Given the description of an element on the screen output the (x, y) to click on. 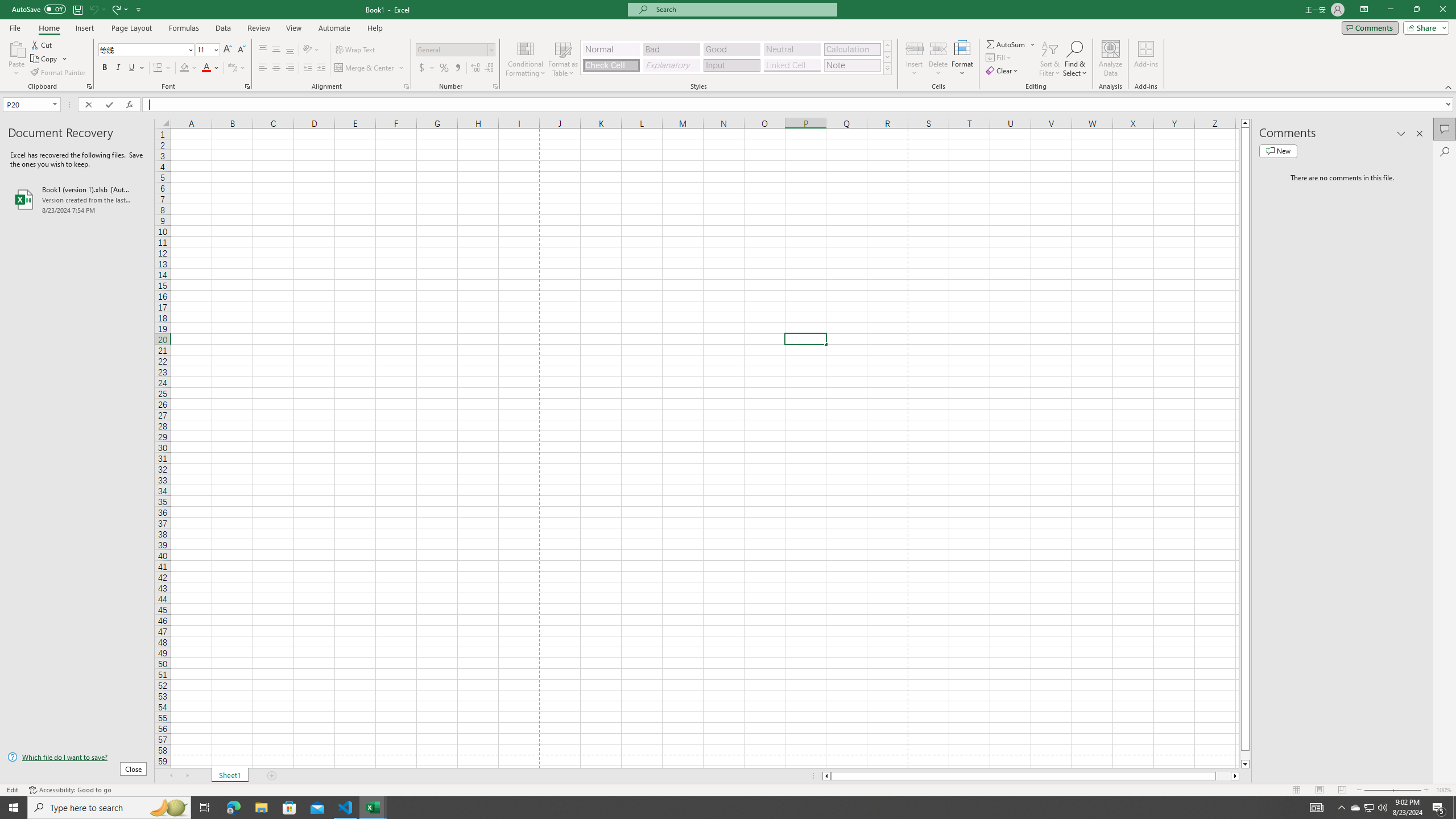
Font Size (207, 49)
Underline (131, 67)
Formula Bar (799, 104)
Copy (45, 58)
Increase Indent (320, 67)
Bottom Align (290, 49)
Format Cell Alignment (405, 85)
Good (731, 49)
Row up (887, 45)
Close pane (1419, 133)
Check Cell (611, 65)
Office Clipboard... (88, 85)
